Given the description of an element on the screen output the (x, y) to click on. 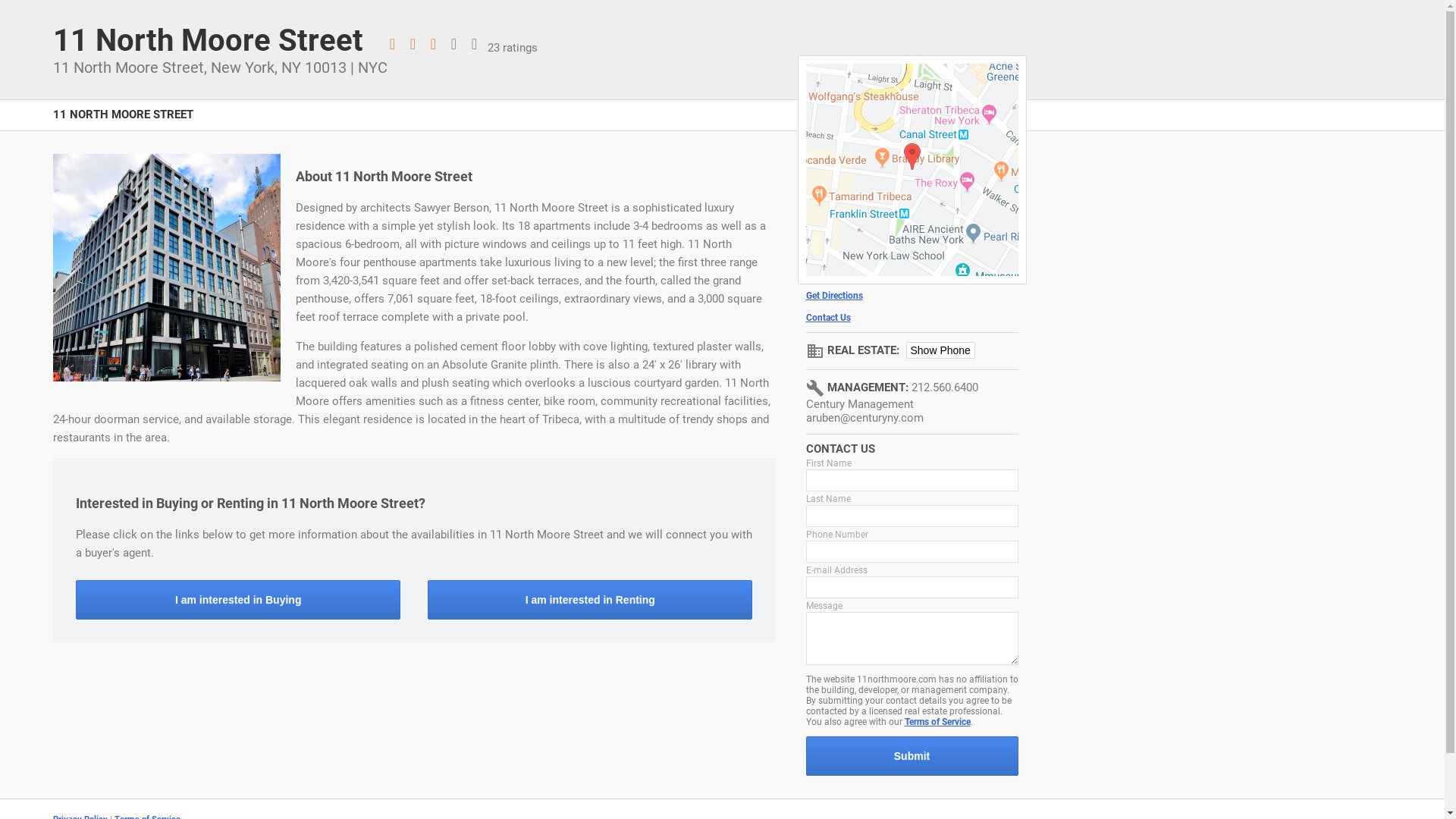
11 NORTH MOORE STREET Element type: text (123, 122)
Show Phone Element type: text (939, 350)
I am interested in Renting Element type: text (589, 599)
Terms of Service Element type: text (936, 721)
Submit Element type: text (911, 755)
Get Directions Element type: text (911, 295)
I am interested in Buying Element type: text (237, 599)
Contact Us Element type: text (911, 317)
